Given the description of an element on the screen output the (x, y) to click on. 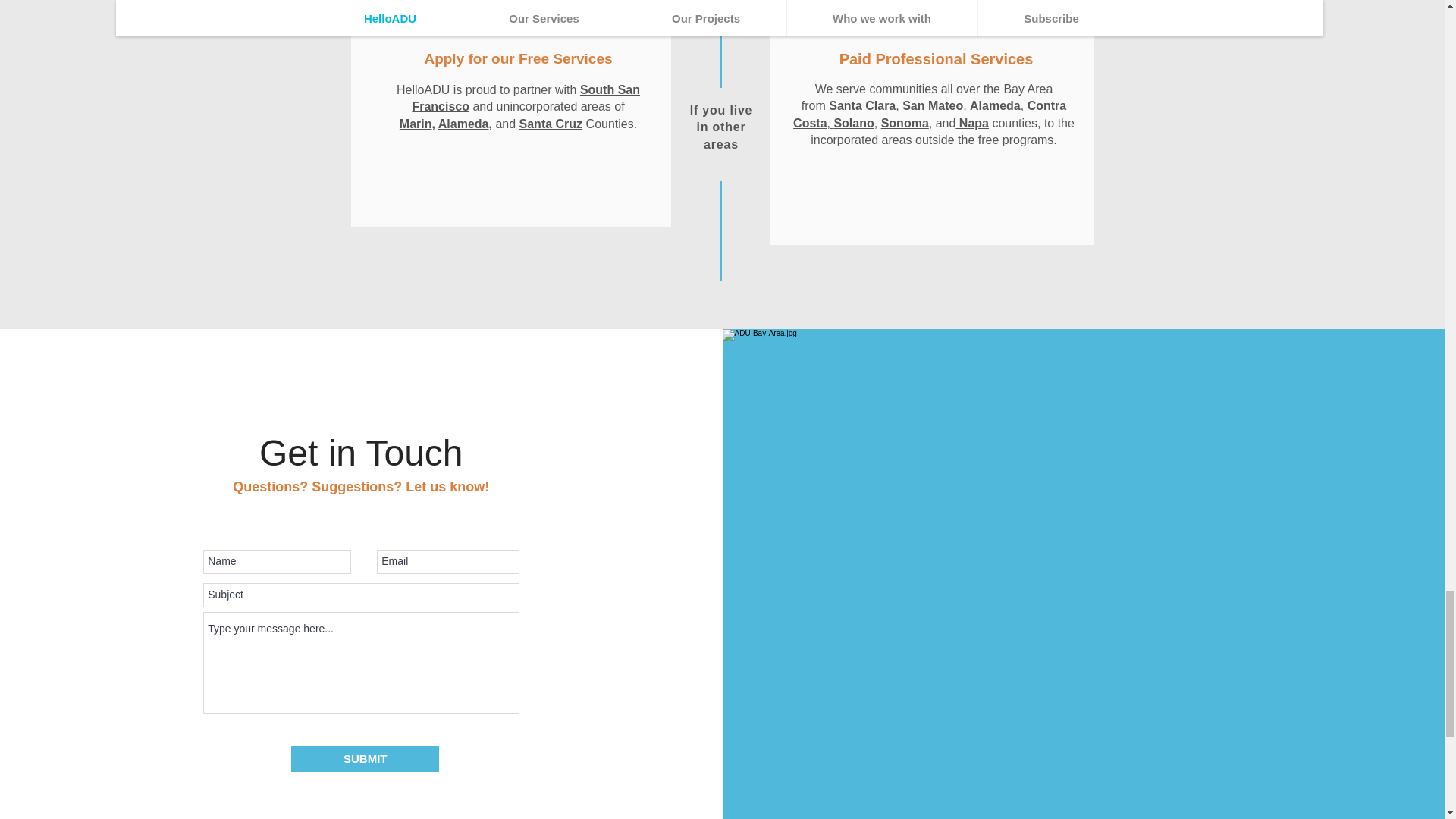
Napa (971, 123)
San Mateo (932, 105)
Marin (415, 123)
SUBMIT (365, 759)
Santa Clara (861, 105)
, and (942, 123)
Sonoma (904, 123)
, Alameda,  (994, 105)
South San Francisco (526, 98)
Contra Costa, Solano (929, 113)
Alameda (463, 123)
